Given the description of an element on the screen output the (x, y) to click on. 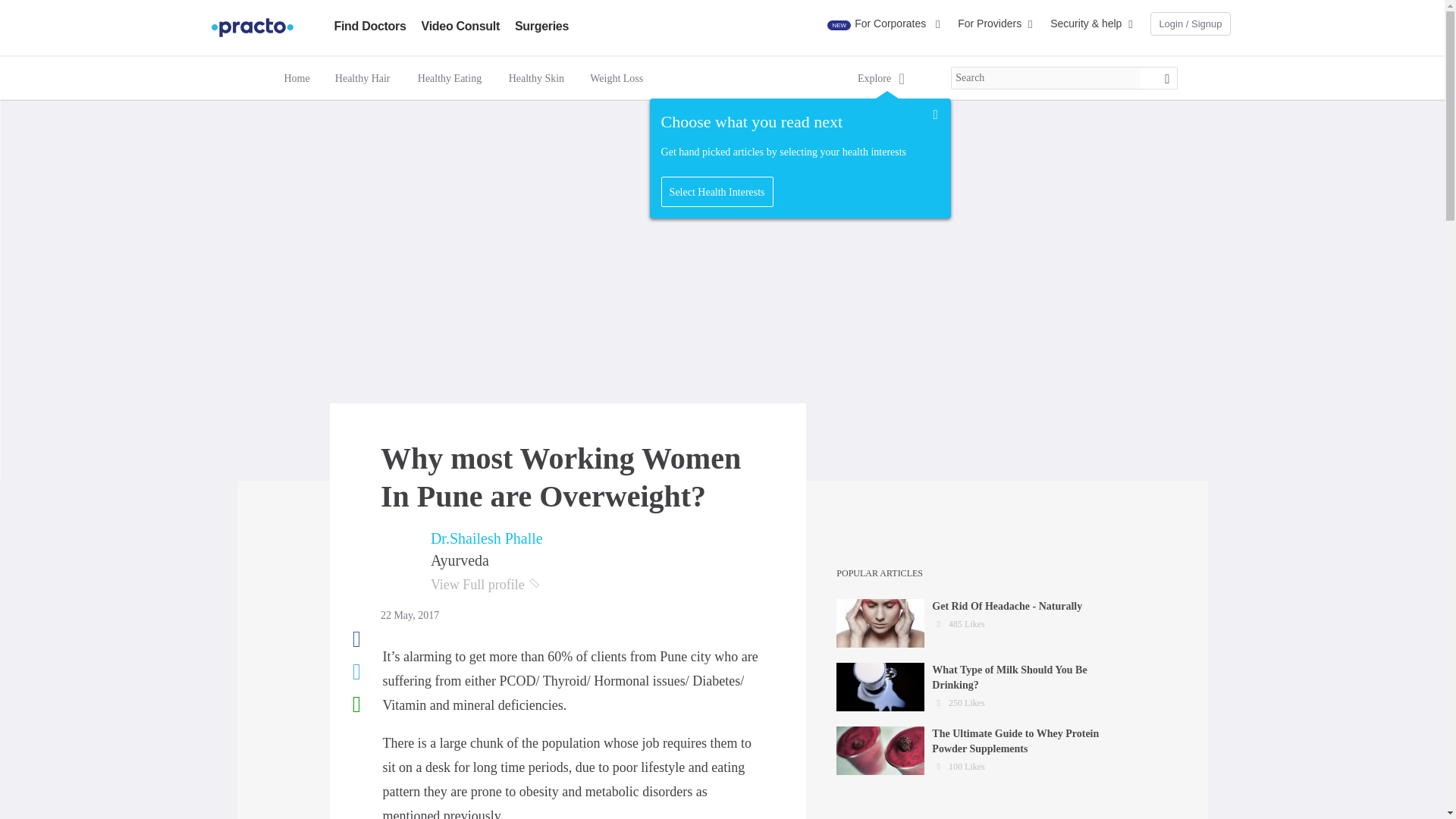
Select Health Interests (717, 192)
Healthy Skin (536, 78)
Home (295, 78)
Healthy Eating (450, 77)
Video Consult (460, 26)
Find Doctors (369, 26)
Dr.Shailesh Phalle (486, 538)
Weight Loss (616, 77)
Healthy Hair (362, 77)
Healthy Hair (362, 78)
